Given the description of an element on the screen output the (x, y) to click on. 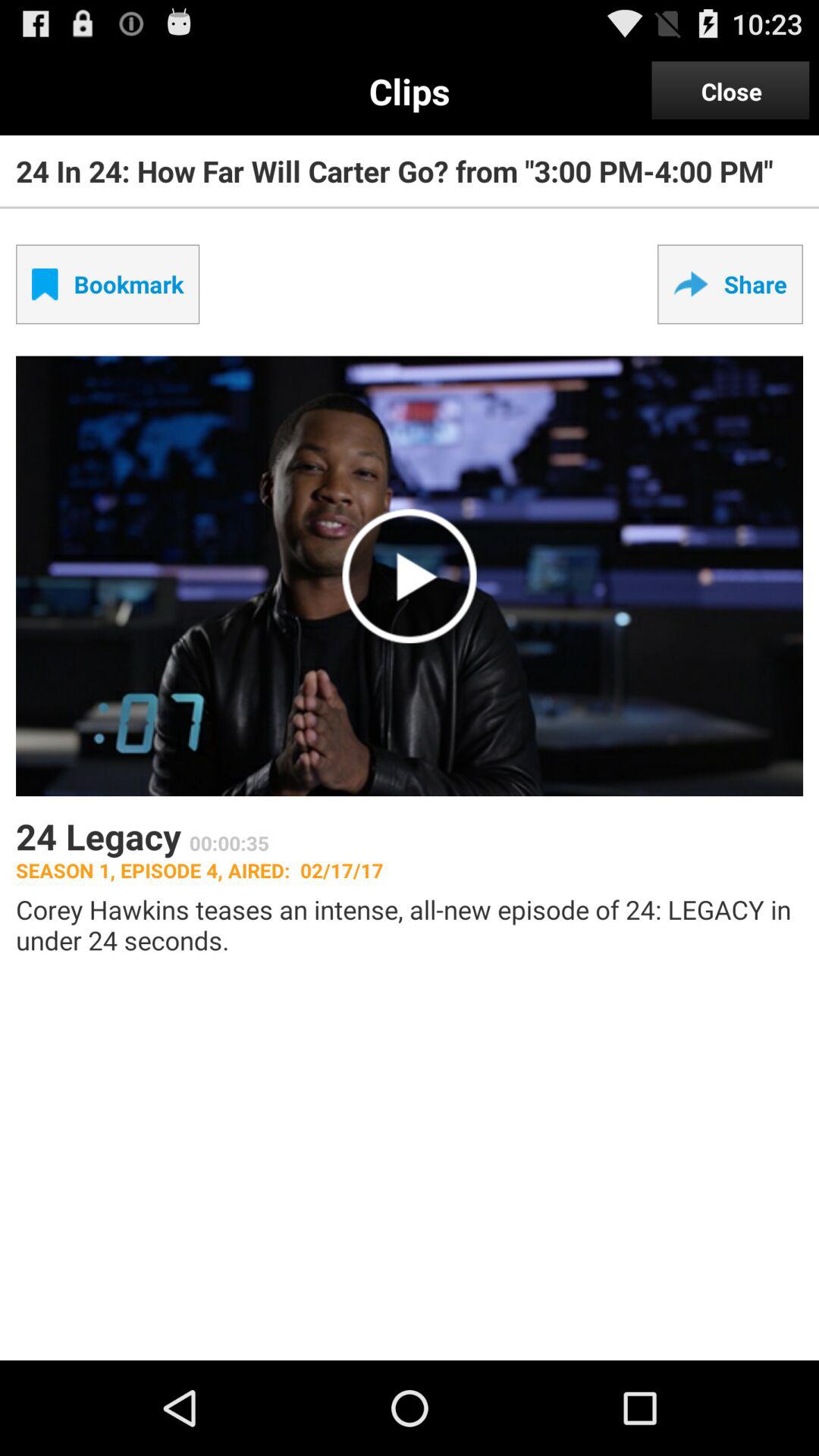
turn on item next to the clips (731, 91)
